Given the description of an element on the screen output the (x, y) to click on. 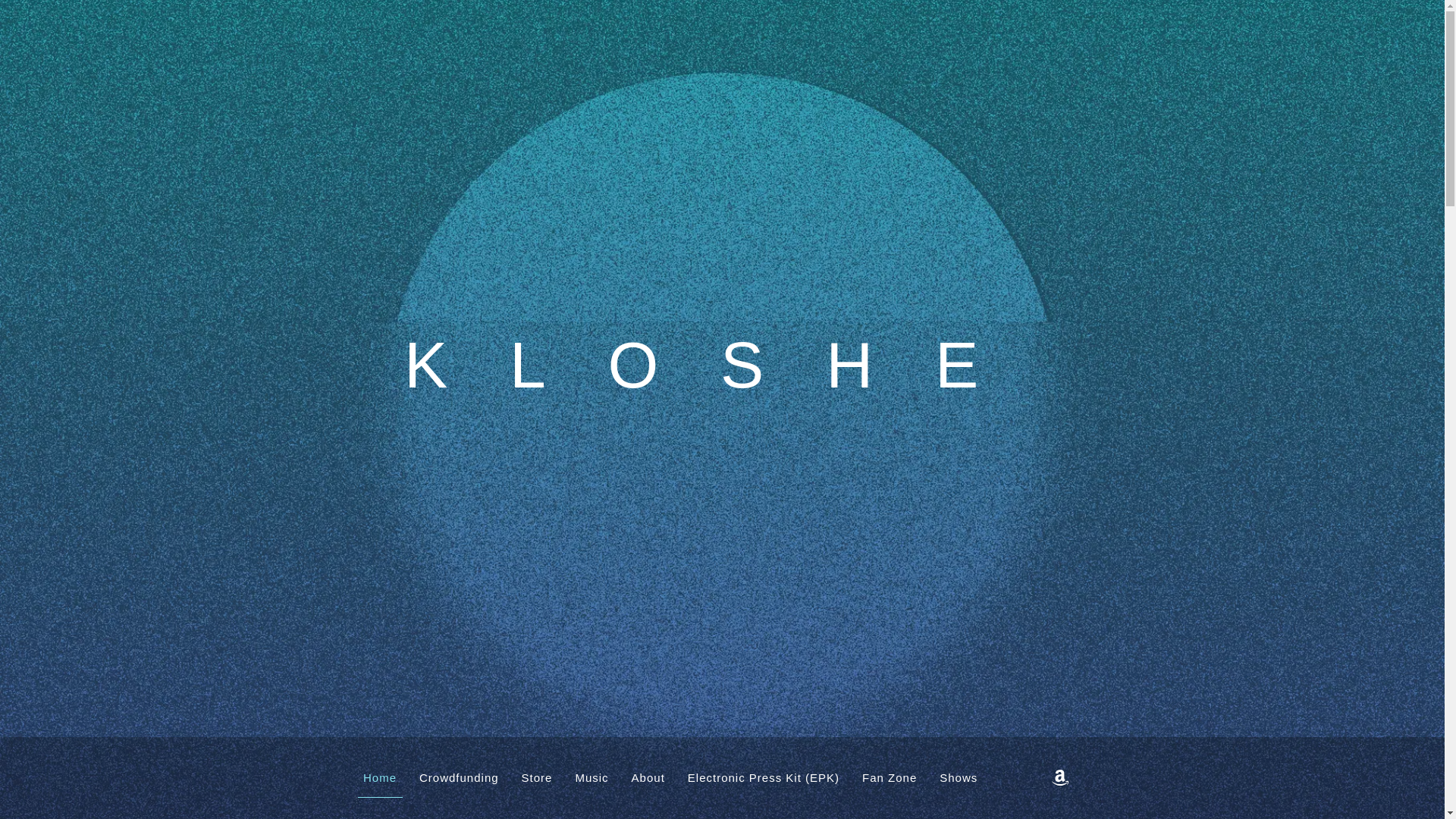
Crowdfunding (459, 778)
Store (536, 778)
Shows (959, 778)
Home (380, 778)
Fan Zone (890, 778)
Music (591, 778)
KLOSHE (722, 380)
About (647, 778)
